Given the description of an element on the screen output the (x, y) to click on. 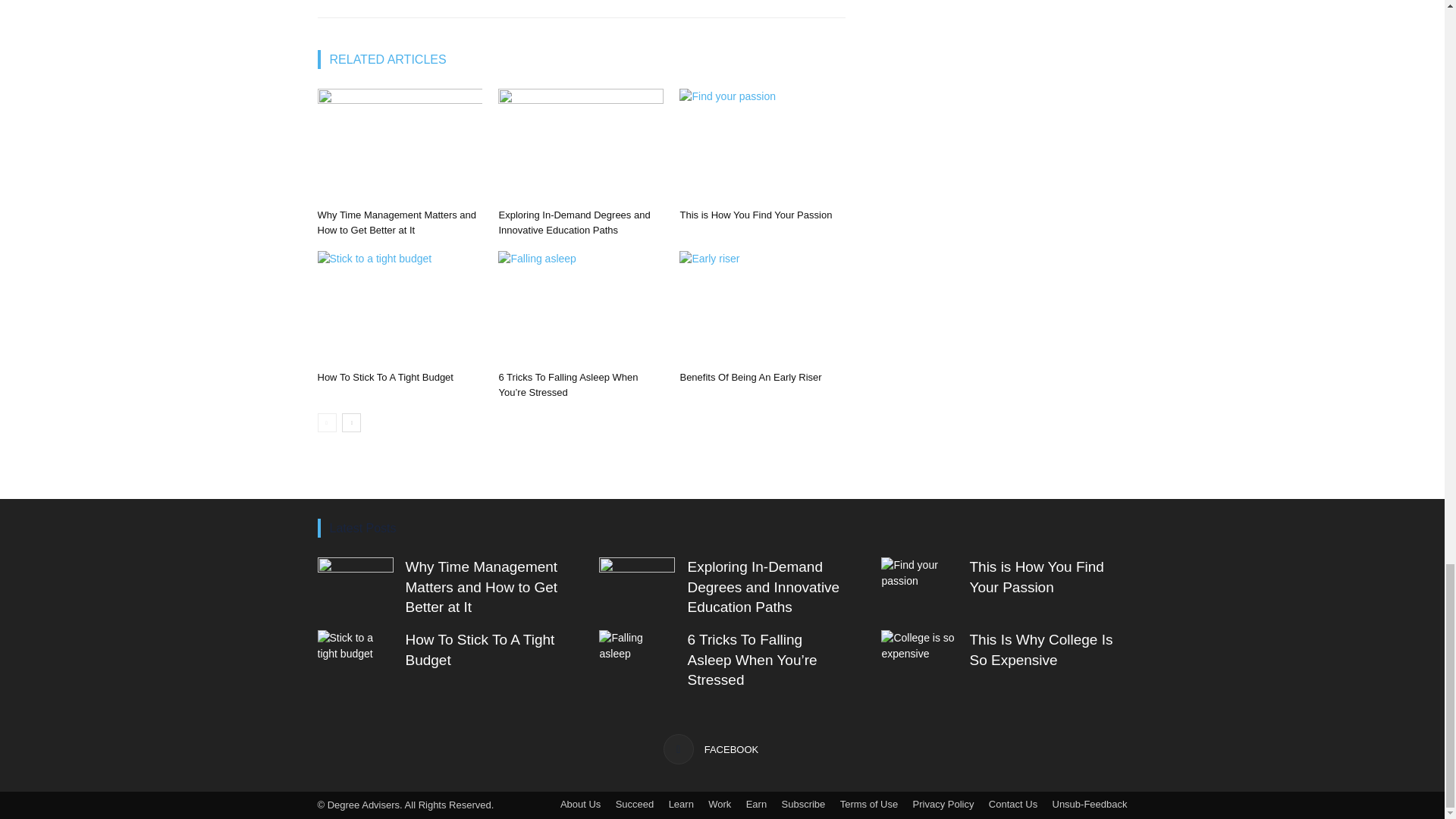
Exploring In-Demand Degrees and Innovative Education Paths (580, 145)
RELATED ARTICLES (385, 58)
Why Time Management Matters and How to Get Better at It (399, 145)
This is How You Find Your Passion (761, 145)
Exploring In-Demand Degrees and Innovative Education Paths (573, 222)
Why Time Management Matters and How to Get Better at It (396, 222)
Why Time Management Matters and How to Get Better at It (396, 222)
Exploring In-Demand Degrees and Innovative Education Paths (573, 222)
